Given the description of an element on the screen output the (x, y) to click on. 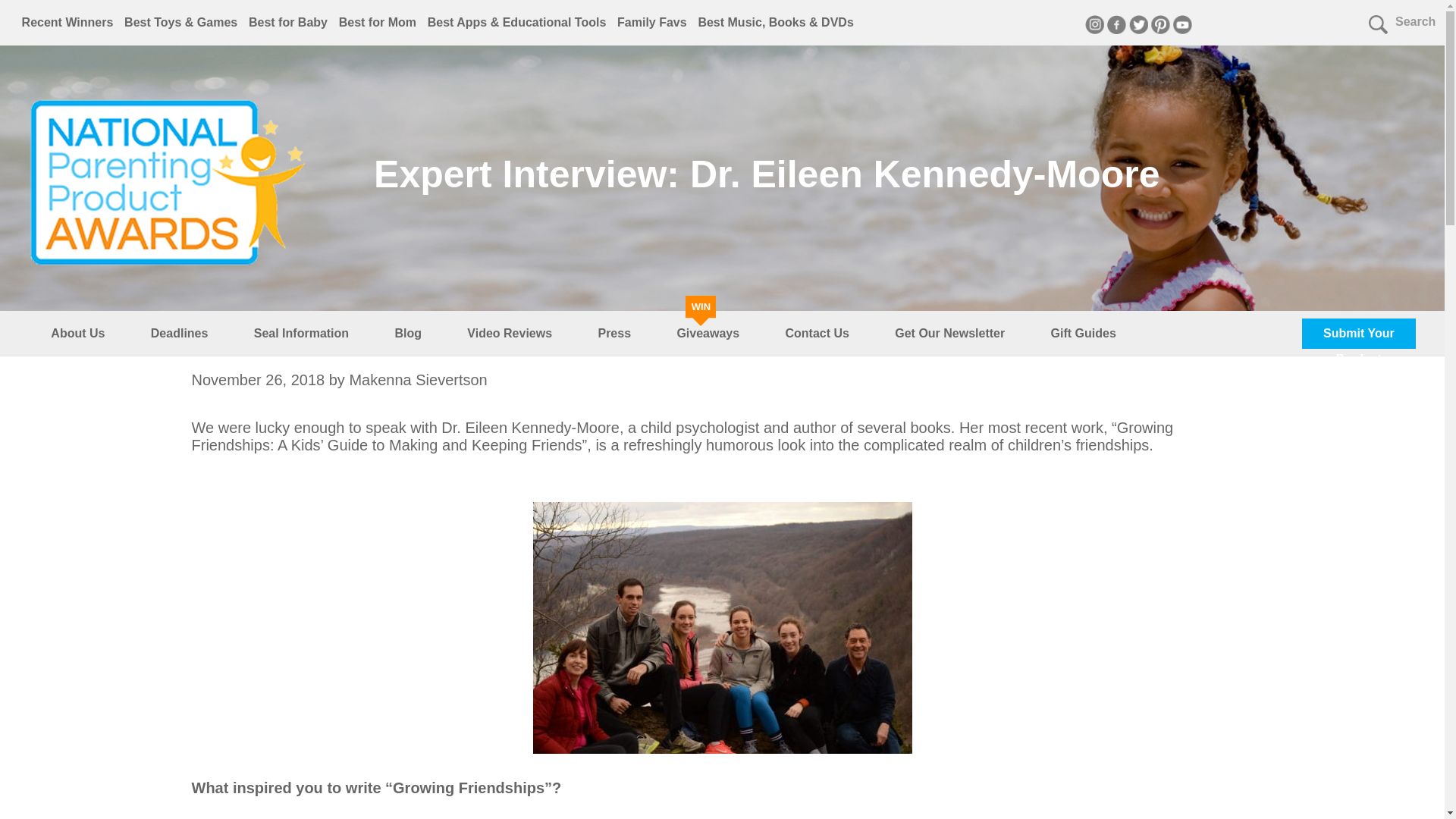
Family Favs (652, 21)
Best for Mom (377, 21)
Best for Baby (287, 21)
Recent Winners (67, 21)
